Given the description of an element on the screen output the (x, y) to click on. 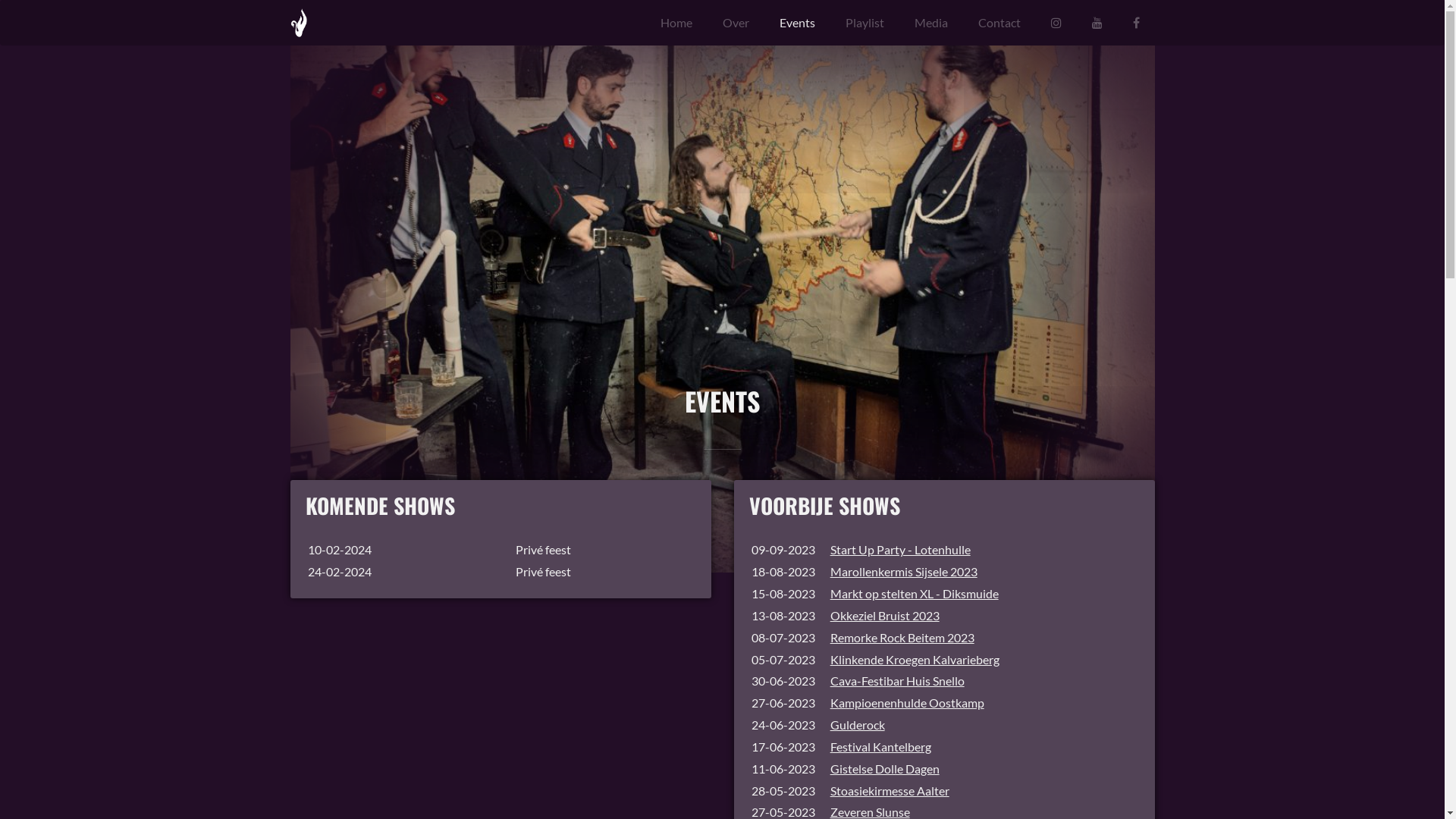
Gulderock Element type: text (857, 724)
Over Element type: text (734, 22)
Home Element type: text (675, 22)
<i class="fa fa-instagram" aria-hidden="true"></i> Element type: hover (1055, 22)
Contact Element type: text (999, 22)
Media Element type: text (931, 22)
Markt op stelten XL - Diksmuide Element type: text (914, 593)
Klinkende Kroegen Kalvarieberg Element type: text (914, 659)
Kampioenenhulde Oostkamp Element type: text (907, 702)
Stoasiekirmesse Aalter Element type: text (889, 790)
Cava-Festibar Huis Snello Element type: text (897, 680)
<i class="fa fa-youtube" aria-hidden="true"></i> Element type: hover (1096, 22)
<i class="fa fa-facebook" aria-hidden="true"></i> Element type: hover (1135, 22)
Okkeziel Bruist 2023 Element type: text (884, 615)
Marollenkermis Sijsele 2023 Element type: text (903, 571)
Gistelse Dolle Dagen Element type: text (884, 768)
Festival Kantelberg Element type: text (880, 746)
Playlist Element type: text (863, 22)
Start Up Party - Lotenhulle Element type: text (900, 549)
Remorke Rock Beitem 2023 Element type: text (902, 637)
Events Element type: text (797, 22)
